Given the description of an element on the screen output the (x, y) to click on. 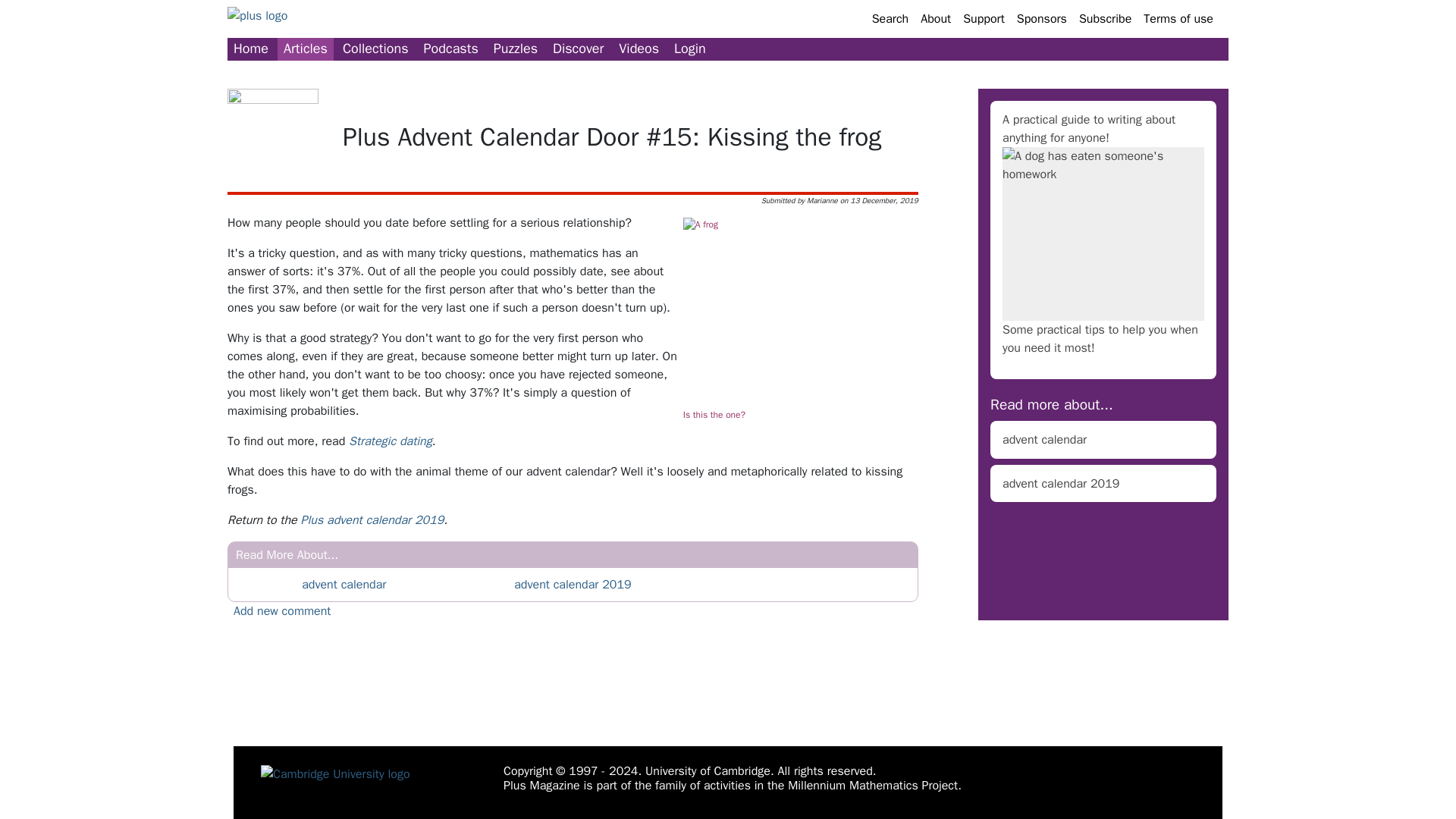
news features columns and opinions (305, 49)
Sponsors (1041, 18)
Articles (305, 49)
Puzzles (515, 49)
Book film and other reviews (578, 49)
Share your thoughts and opinions. (281, 611)
Home (251, 49)
Add new comment (281, 611)
Podcasts (450, 49)
Login (689, 49)
